Given the description of an element on the screen output the (x, y) to click on. 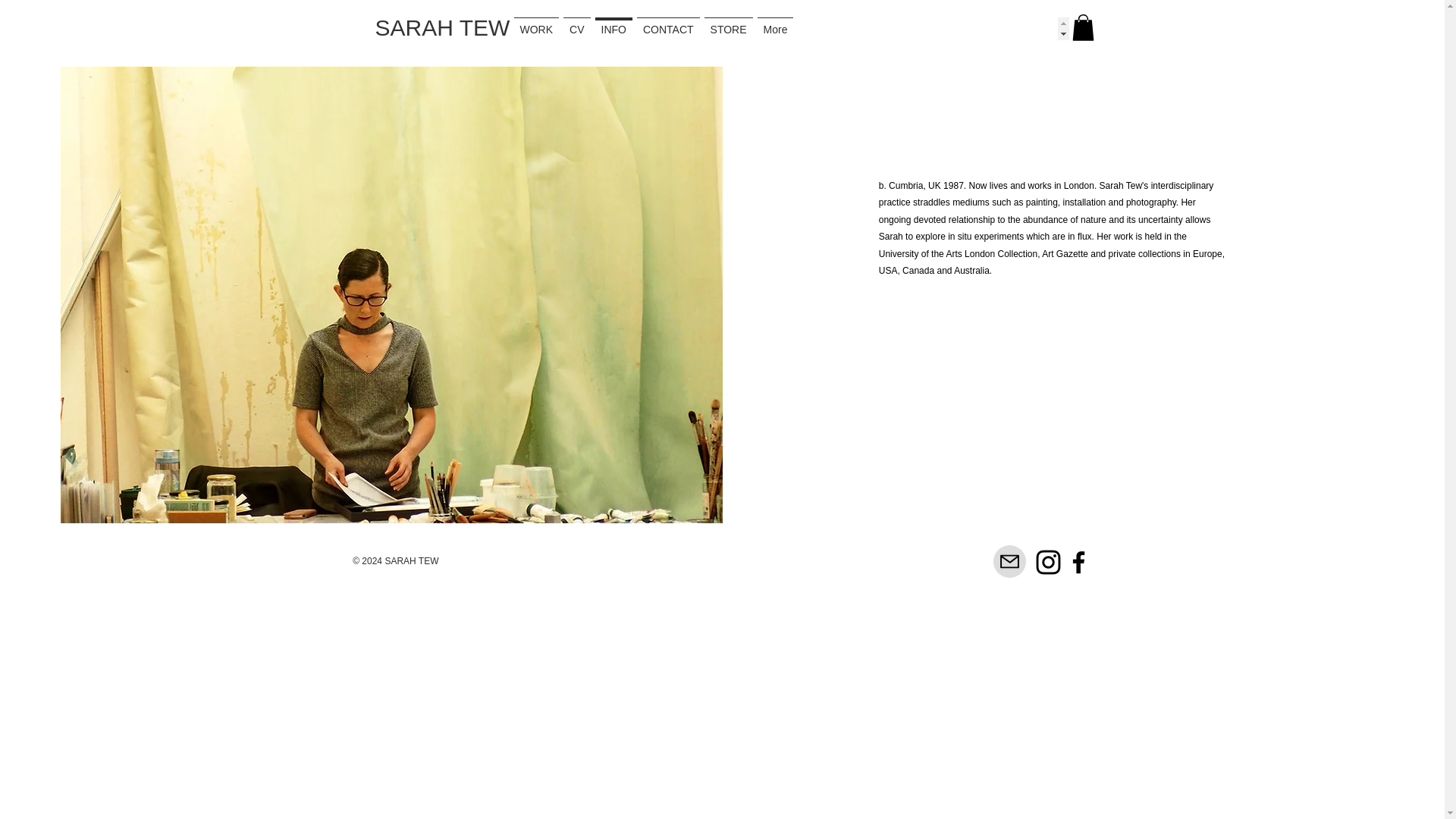
SARAH TEW (441, 27)
CONTACT (667, 28)
INFO (613, 28)
STORE (728, 28)
WORK (535, 28)
CV (576, 28)
